Given the description of an element on the screen output the (x, y) to click on. 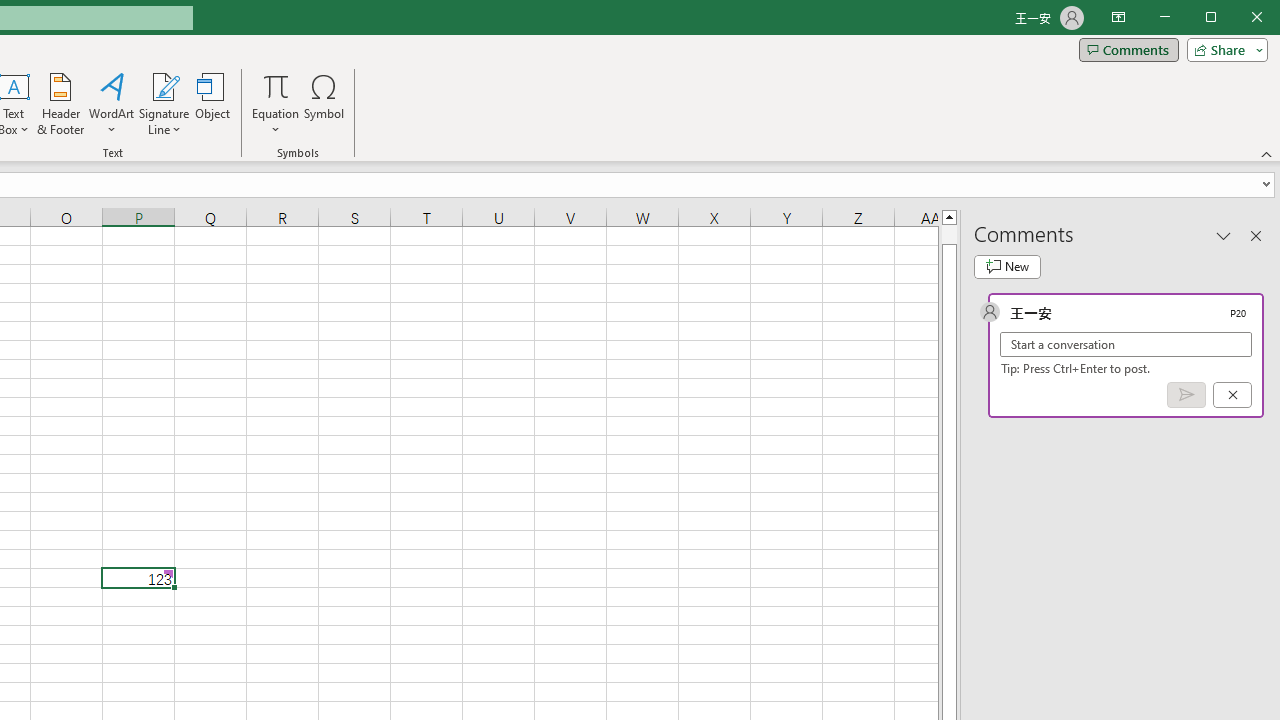
Post comment (Ctrl + Enter) (1186, 395)
Page up (948, 234)
Object... (213, 104)
Signature Line (164, 104)
Header & Footer... (60, 104)
WordArt (111, 104)
